Given the description of an element on the screen output the (x, y) to click on. 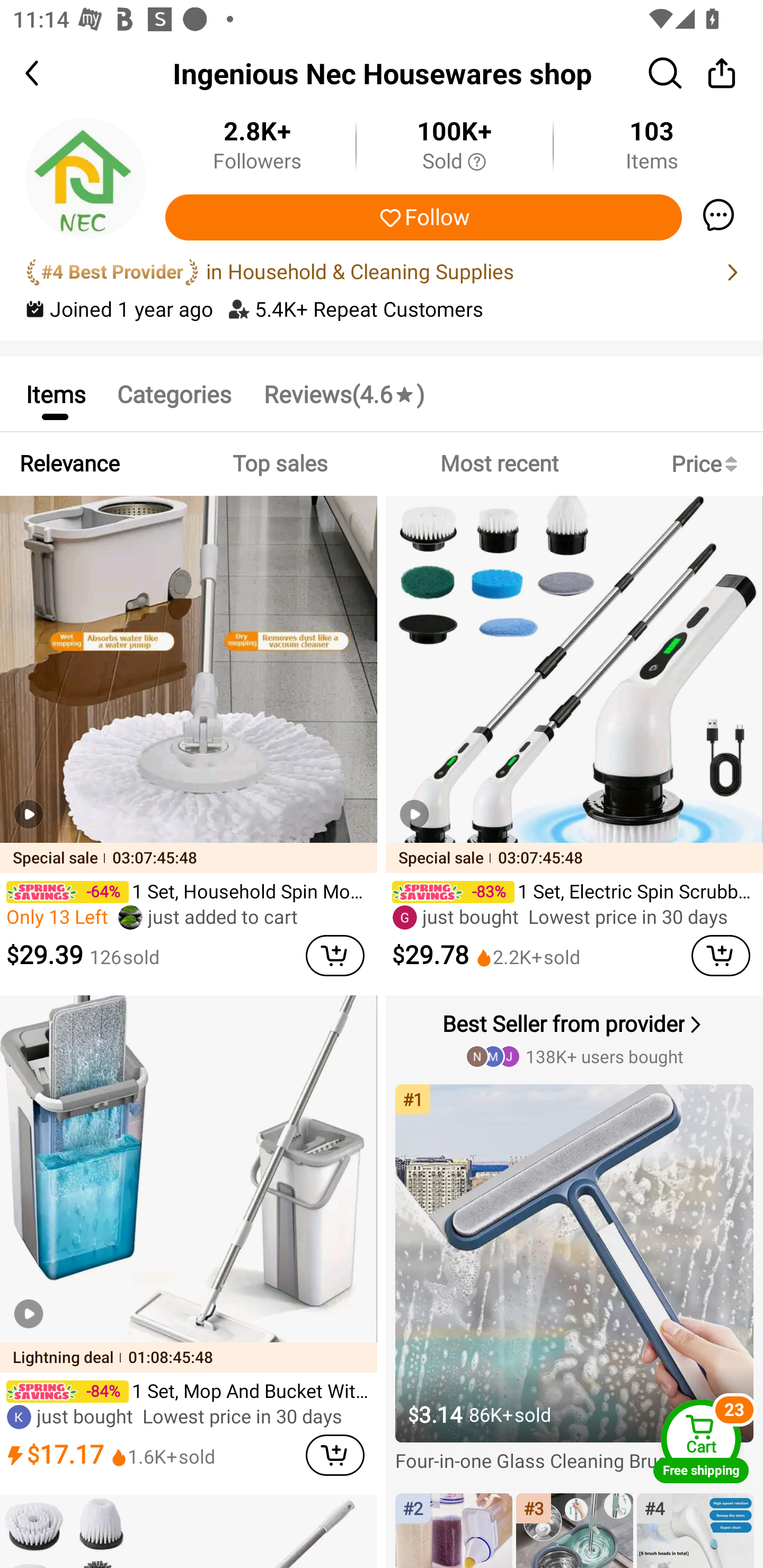
back (47, 72)
share (721, 72)
Sold (453, 161)
#4 Best Provider in Household & Cleaning Supplies (381, 272)
Items (55, 393)
Categories (174, 393)
Reviews(4.6 ) (343, 393)
Relevance (69, 463)
Top sales (279, 463)
Most recent (498, 463)
Price (707, 463)
cart delete (334, 955)
cart delete (720, 955)
Best Seller from provider 138K+ users bought (576, 1037)
Cart Free shipping Cart (701, 1440)
cart delete (334, 1454)
#2 (453, 1530)
#3 (574, 1530)
#4 (695, 1530)
